Given the description of an element on the screen output the (x, y) to click on. 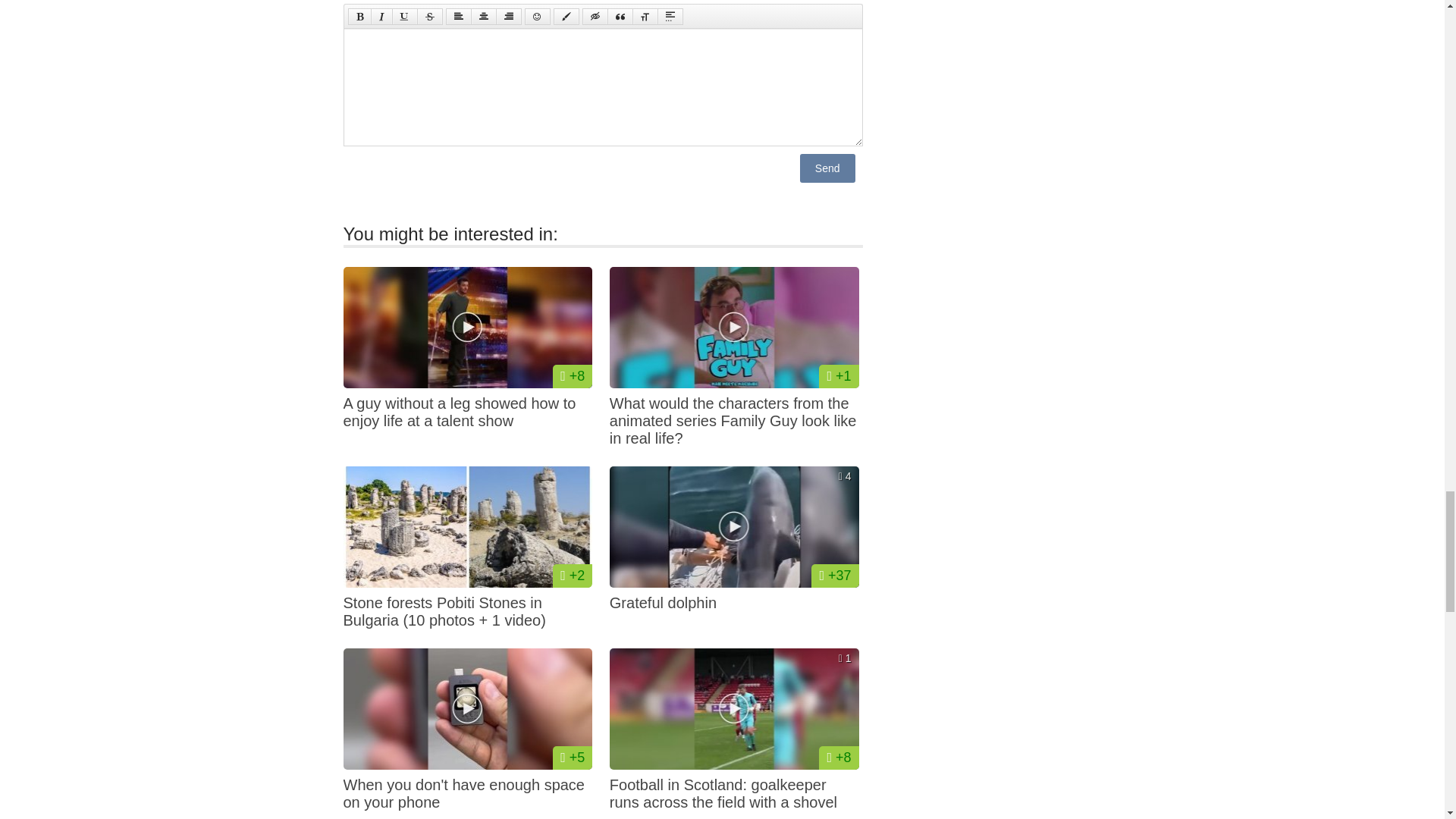
Strikethrough (429, 16)
Align right (508, 16)
Italic (380, 16)
Underline (403, 16)
Hidden text (595, 16)
Select color (566, 16)
Align left (458, 16)
Align center (483, 16)
Insert quote (619, 16)
Insert emoticons (537, 16)
Bold (359, 16)
